Given the description of an element on the screen output the (x, y) to click on. 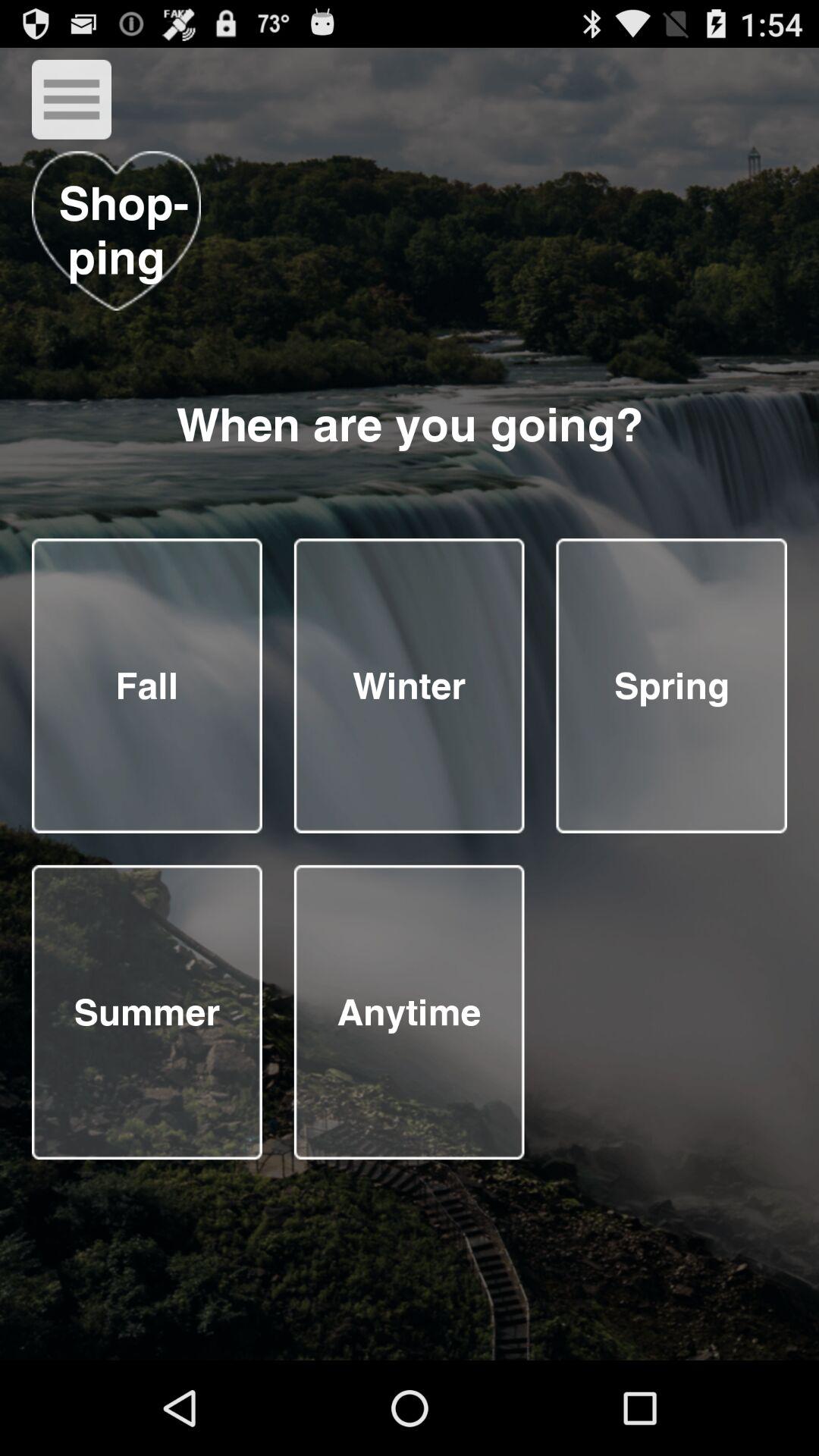
season (409, 685)
